Given the description of an element on the screen output the (x, y) to click on. 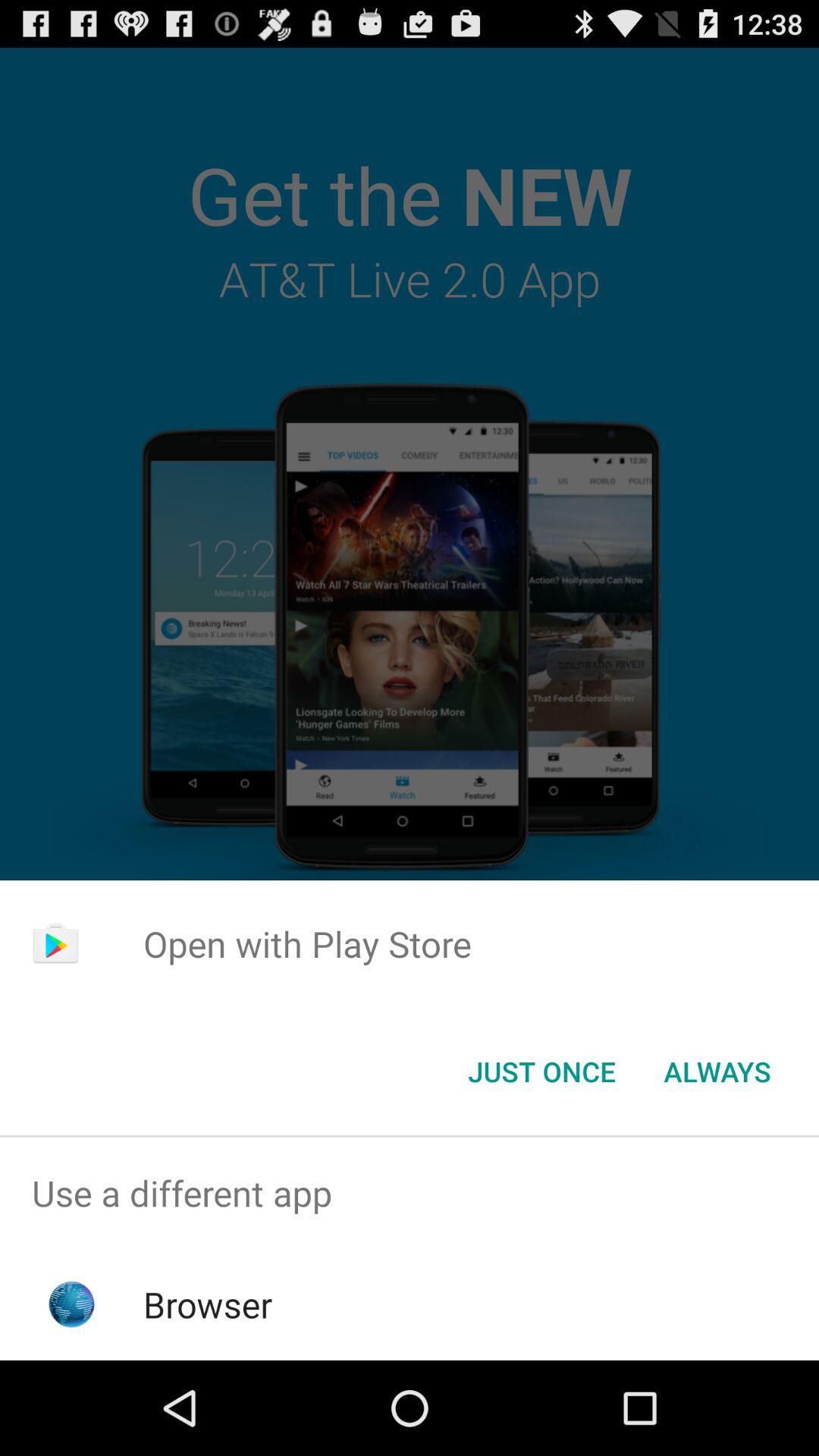
click the item next to always item (541, 1071)
